Given the description of an element on the screen output the (x, y) to click on. 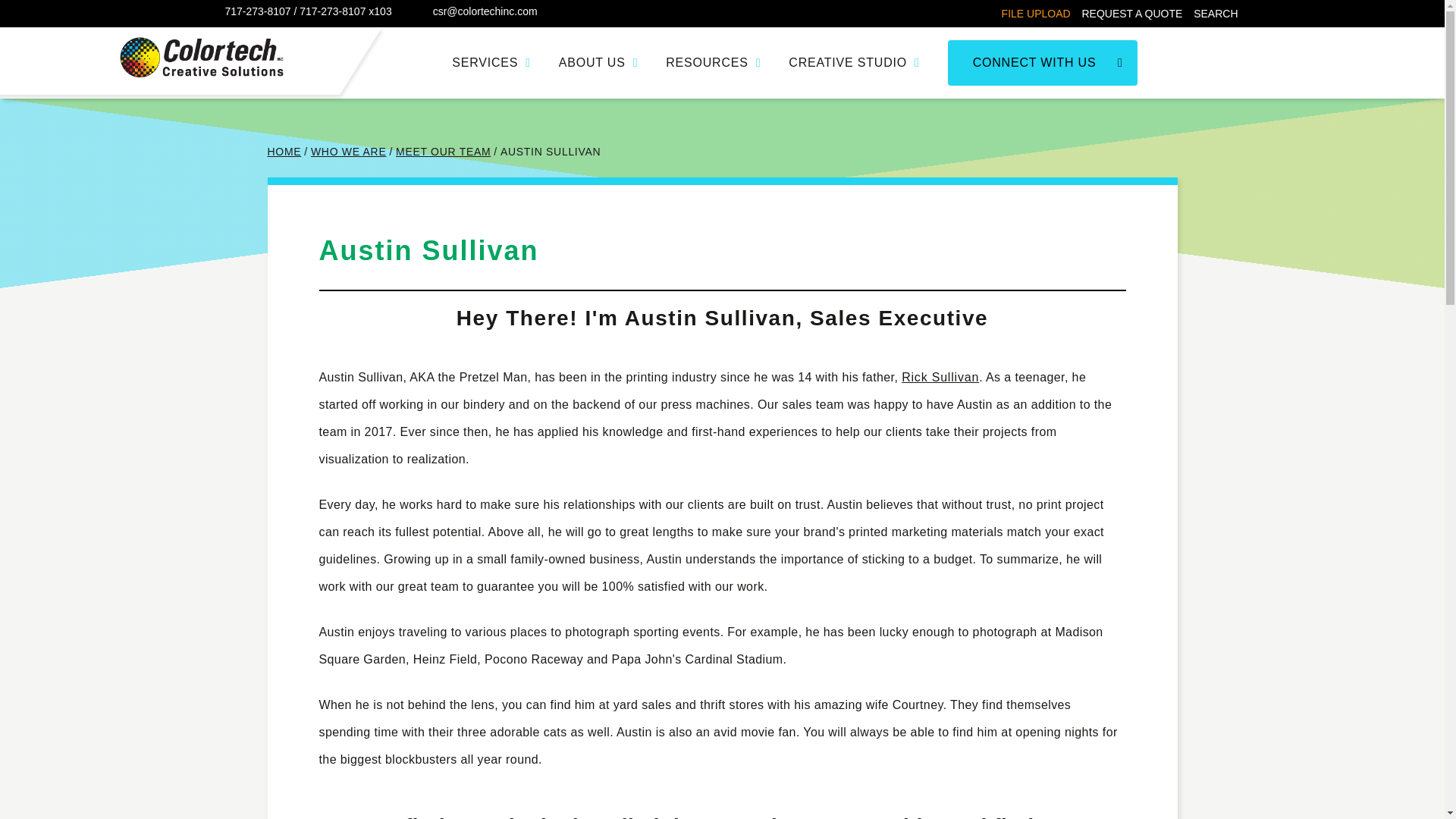
SEARCH (1215, 13)
SERVICES (491, 62)
CREATIVE STUDIO (853, 62)
Meet Our Team (443, 151)
ABOUT US (599, 62)
FILE UPLOAD (1035, 13)
Who We Are (349, 151)
RESOURCES (712, 62)
REQUEST A QUOTE (1131, 13)
